Given the description of an element on the screen output the (x, y) to click on. 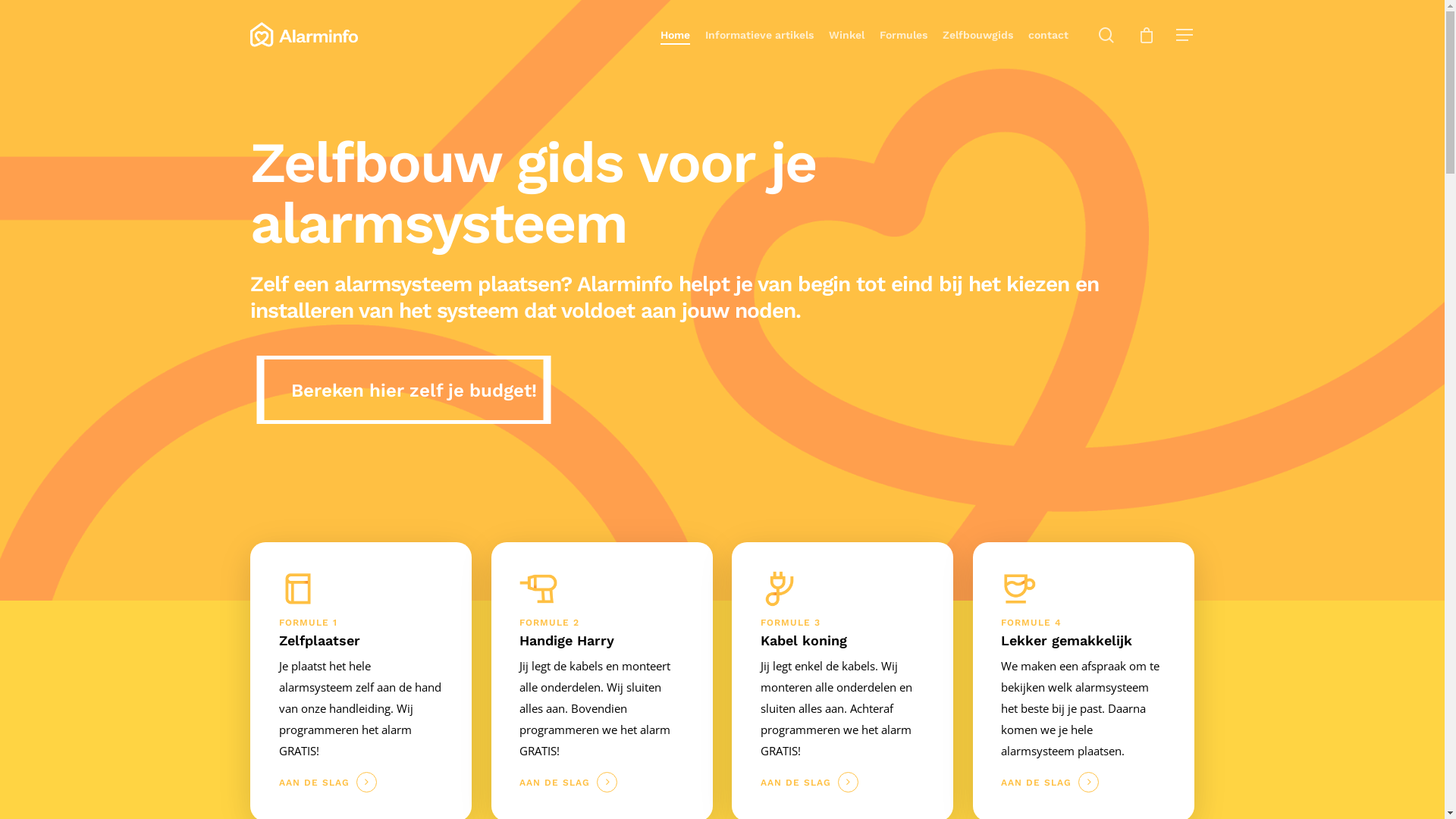
Informatieve artikels Element type: text (759, 34)
AAN DE SLAG Element type: text (809, 782)
AAN DE SLAG Element type: text (327, 782)
AAN DE SLAG Element type: text (568, 782)
Home Element type: text (675, 34)
Formules Element type: text (903, 34)
Bereken hier zelf je budget!
Bereken hier zelf je budget! Element type: text (403, 389)
AAN DE SLAG Element type: text (1049, 782)
Winkel Element type: text (846, 34)
Zelfbouwgids Element type: text (977, 34)
contact Element type: text (1048, 34)
